Given the description of an element on the screen output the (x, y) to click on. 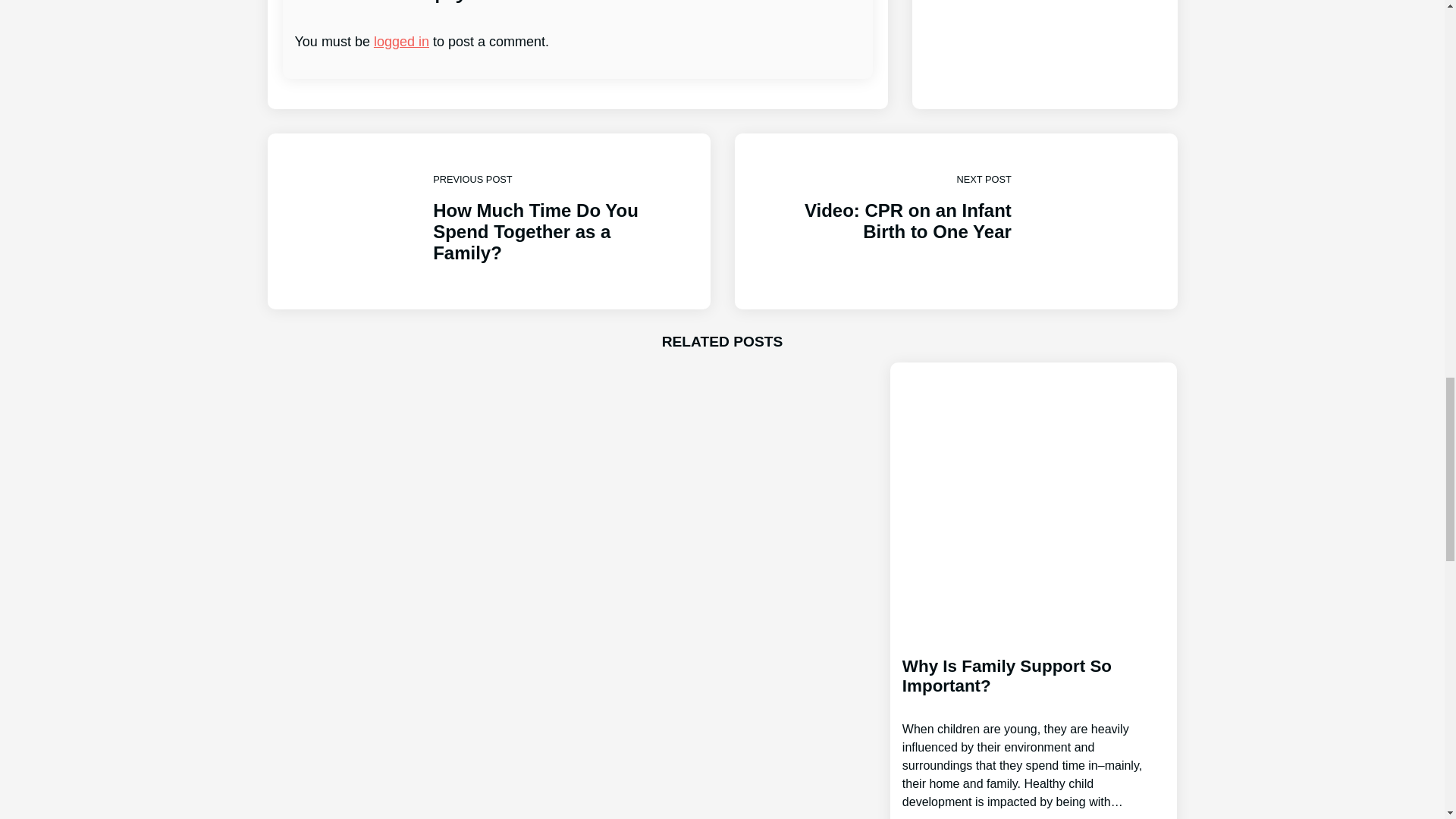
Why Is Family Support So Important? (954, 221)
logged in (1034, 720)
